Given the description of an element on the screen output the (x, y) to click on. 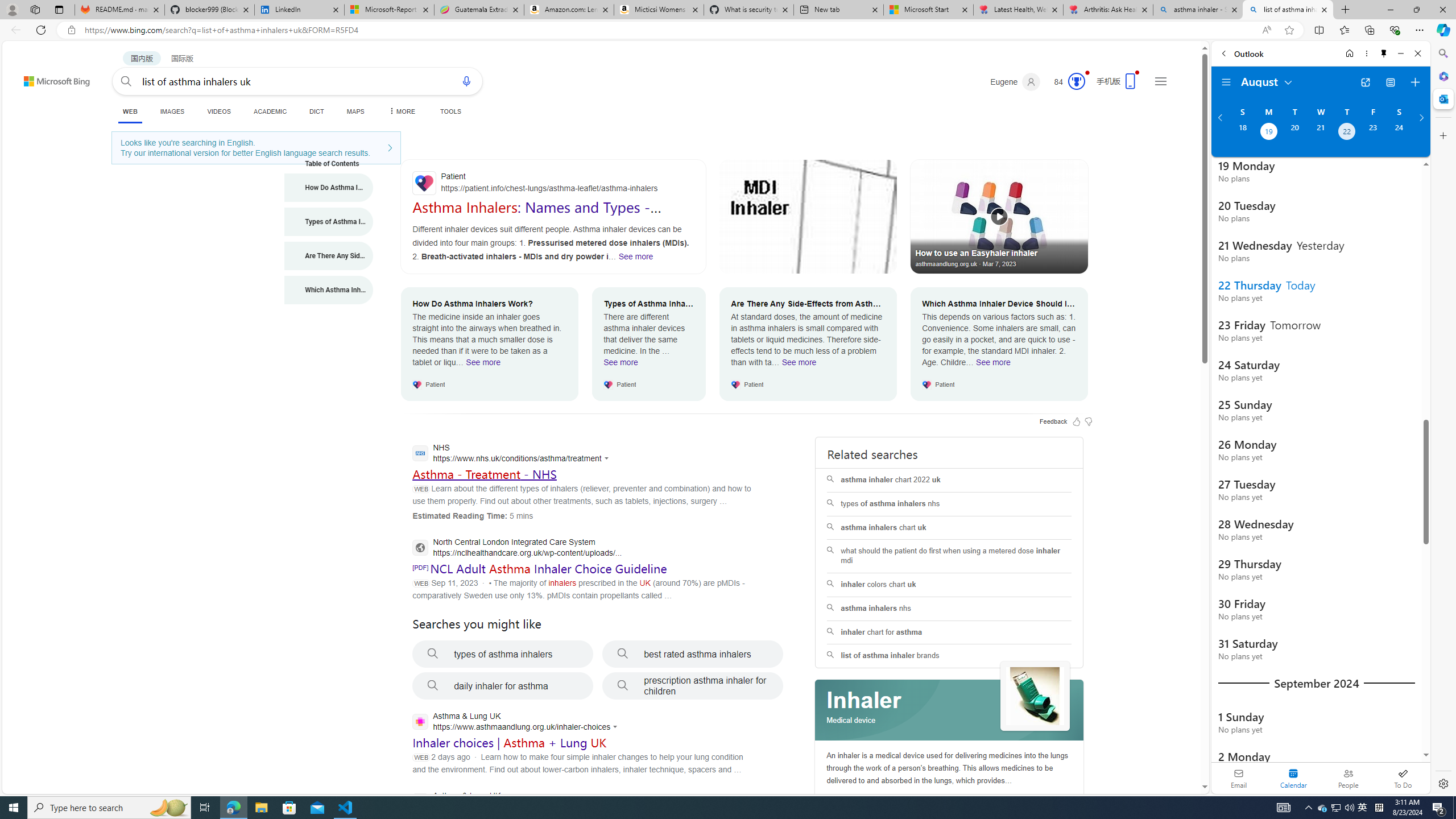
DICT (316, 111)
AutomationID: rh_meter (1076, 80)
TOOLS (450, 111)
asthma inhaler - Search (1197, 9)
Monday, August 19, 2024. Date selected.  (1268, 132)
View Switcher. Current view is Agenda view (1390, 82)
ACADEMIC (269, 111)
Thursday, August 22, 2024. Today.  (1346, 132)
How Do Asthma Inhalers Work? (328, 187)
